Given the description of an element on the screen output the (x, y) to click on. 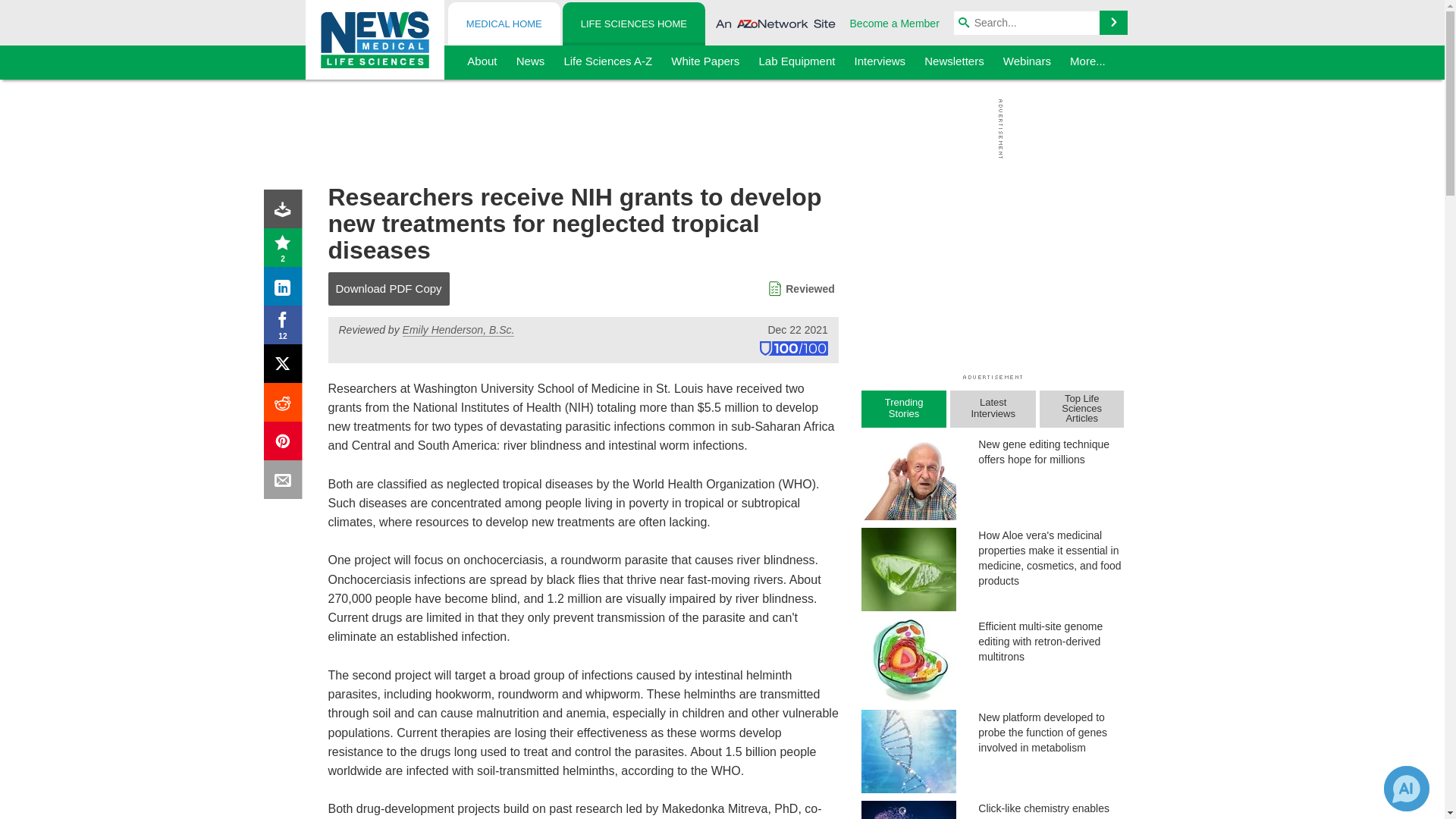
Facebook (285, 328)
Reddit (285, 405)
Pinterest (285, 443)
LinkedIn (285, 289)
Download PDF copy (285, 212)
MEDICAL HOME (504, 23)
Rating (285, 250)
Email (285, 483)
Search (1112, 22)
LIFE SCIENCES HOME (633, 23)
X (285, 366)
Become a Member (894, 22)
